Given the description of an element on the screen output the (x, y) to click on. 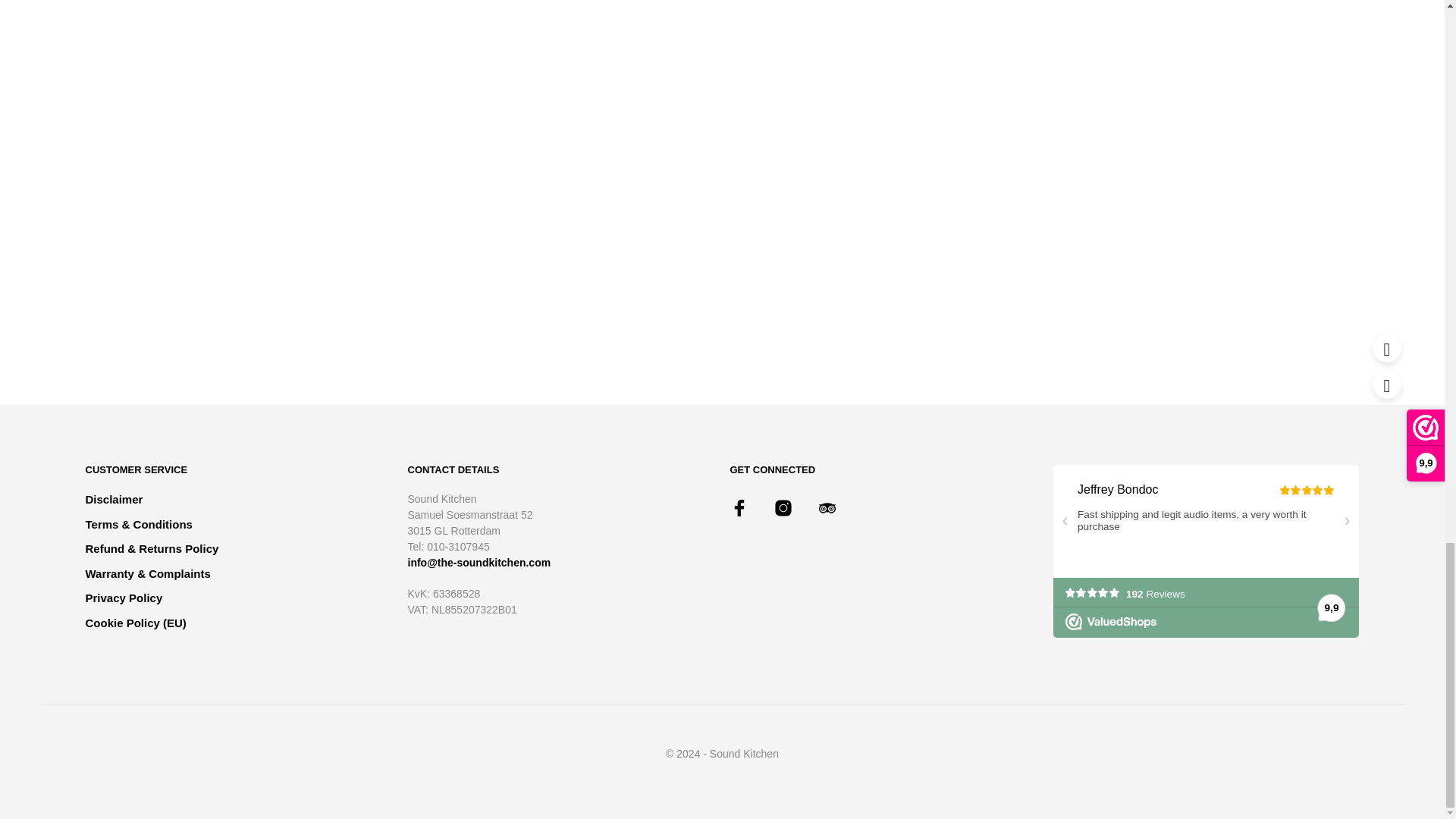
TripAdvisor (826, 507)
Facebook (738, 507)
Instagram (783, 507)
